Given the description of an element on the screen output the (x, y) to click on. 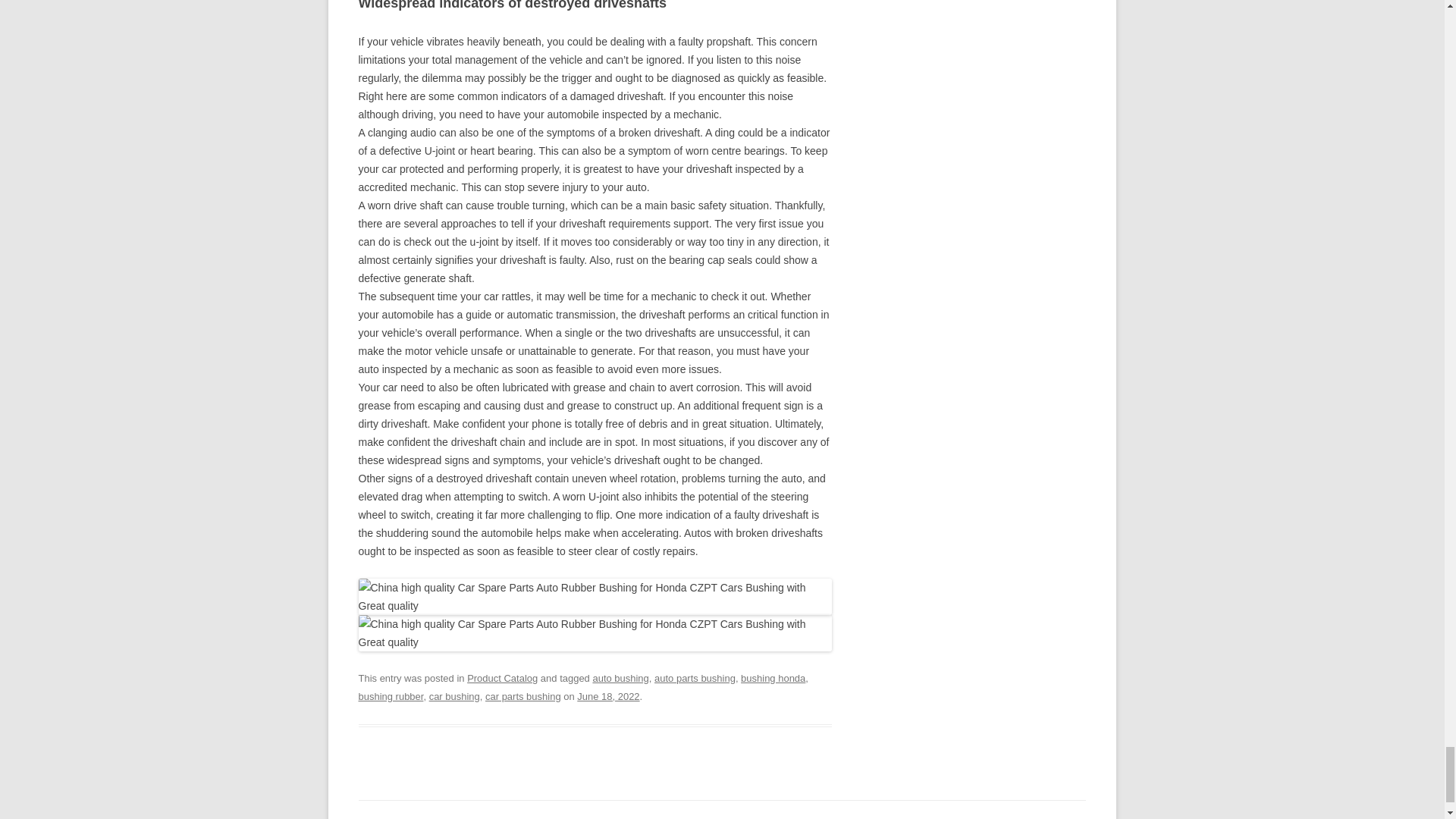
4:20 am (607, 696)
auto parts bushing (694, 677)
car parts bushing (522, 696)
June 18, 2022 (607, 696)
Product Catalog (502, 677)
bushing rubber (390, 696)
bushing honda (773, 677)
car bushing (454, 696)
auto bushing (619, 677)
